Given the description of an element on the screen output the (x, y) to click on. 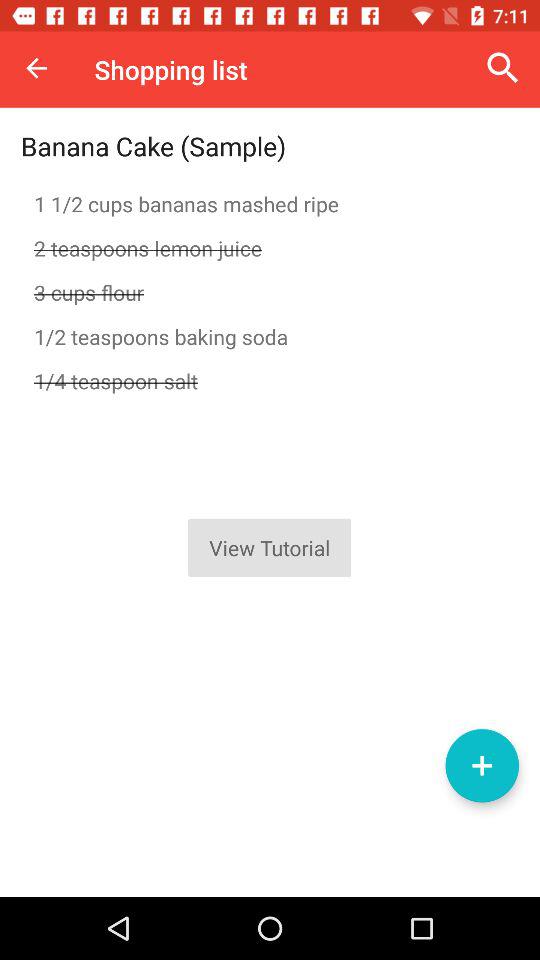
launch the item to the right of the shopping list item (503, 67)
